Given the description of an element on the screen output the (x, y) to click on. 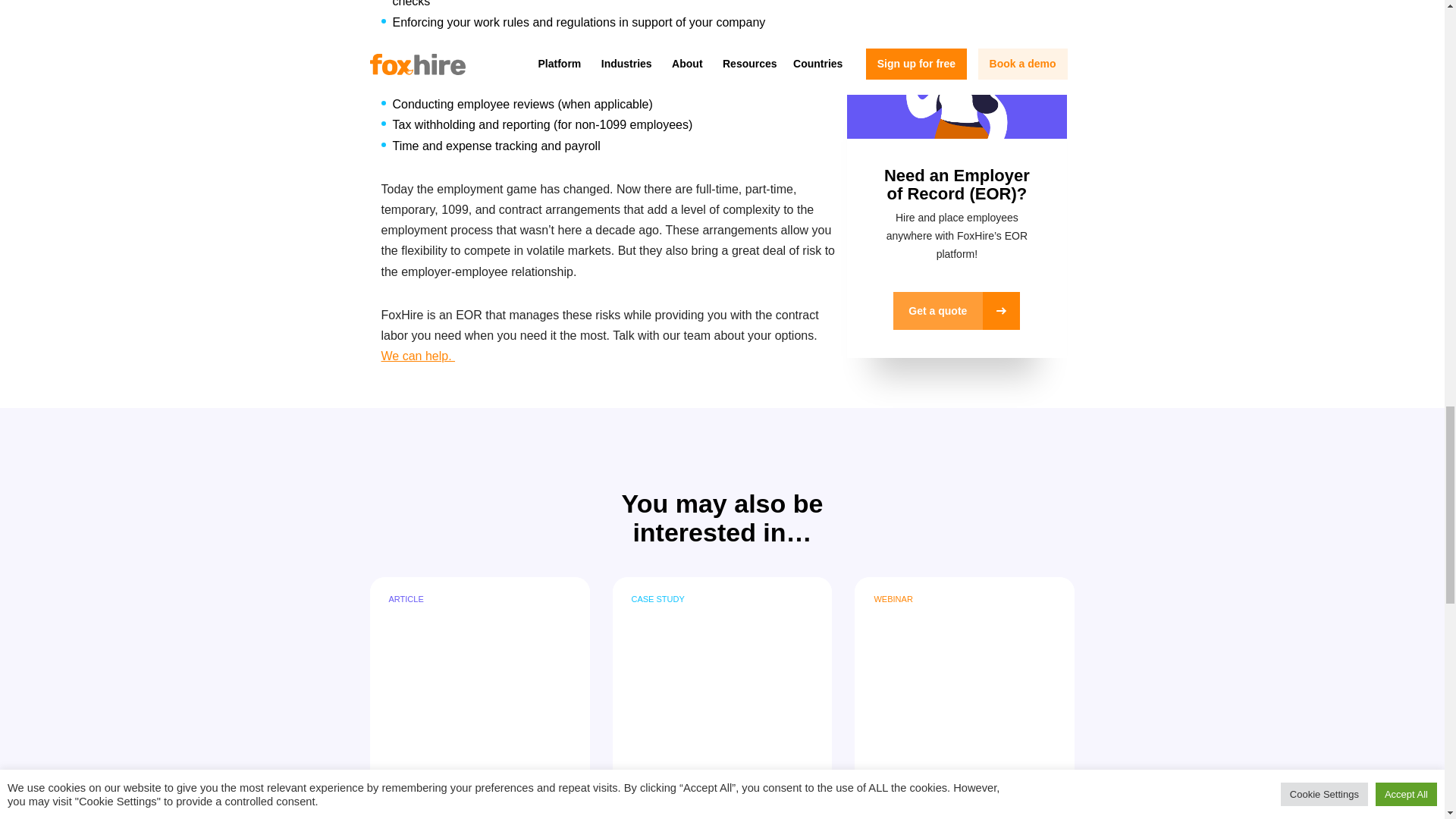
The Case for EOR: For Midsize Enterprises (479, 666)
New Zealand Based Company Expands to USA with FoxHire (722, 666)
Conversion Fees for Dummies: A Guide for Recruiters (964, 666)
